Given the description of an element on the screen output the (x, y) to click on. 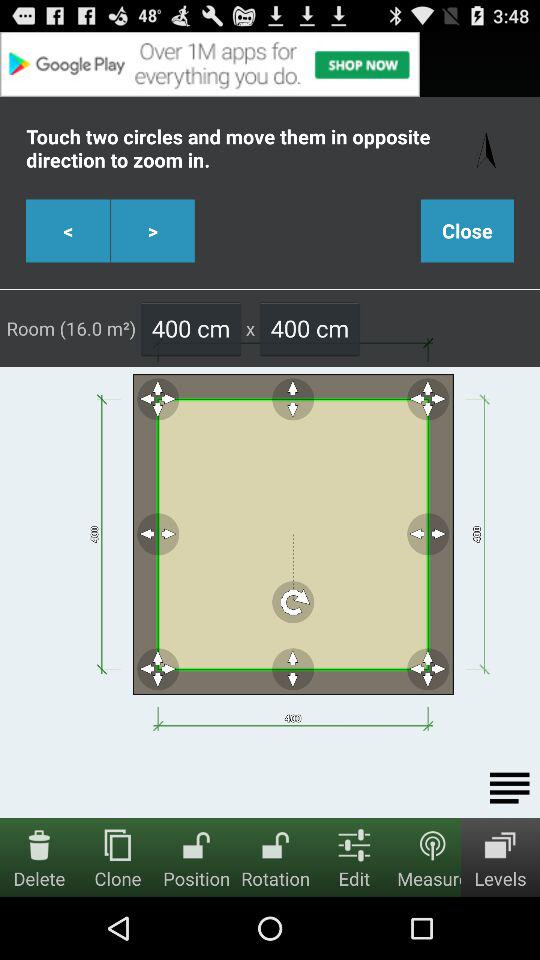
go to advertisement (270, 64)
